Given the description of an element on the screen output the (x, y) to click on. 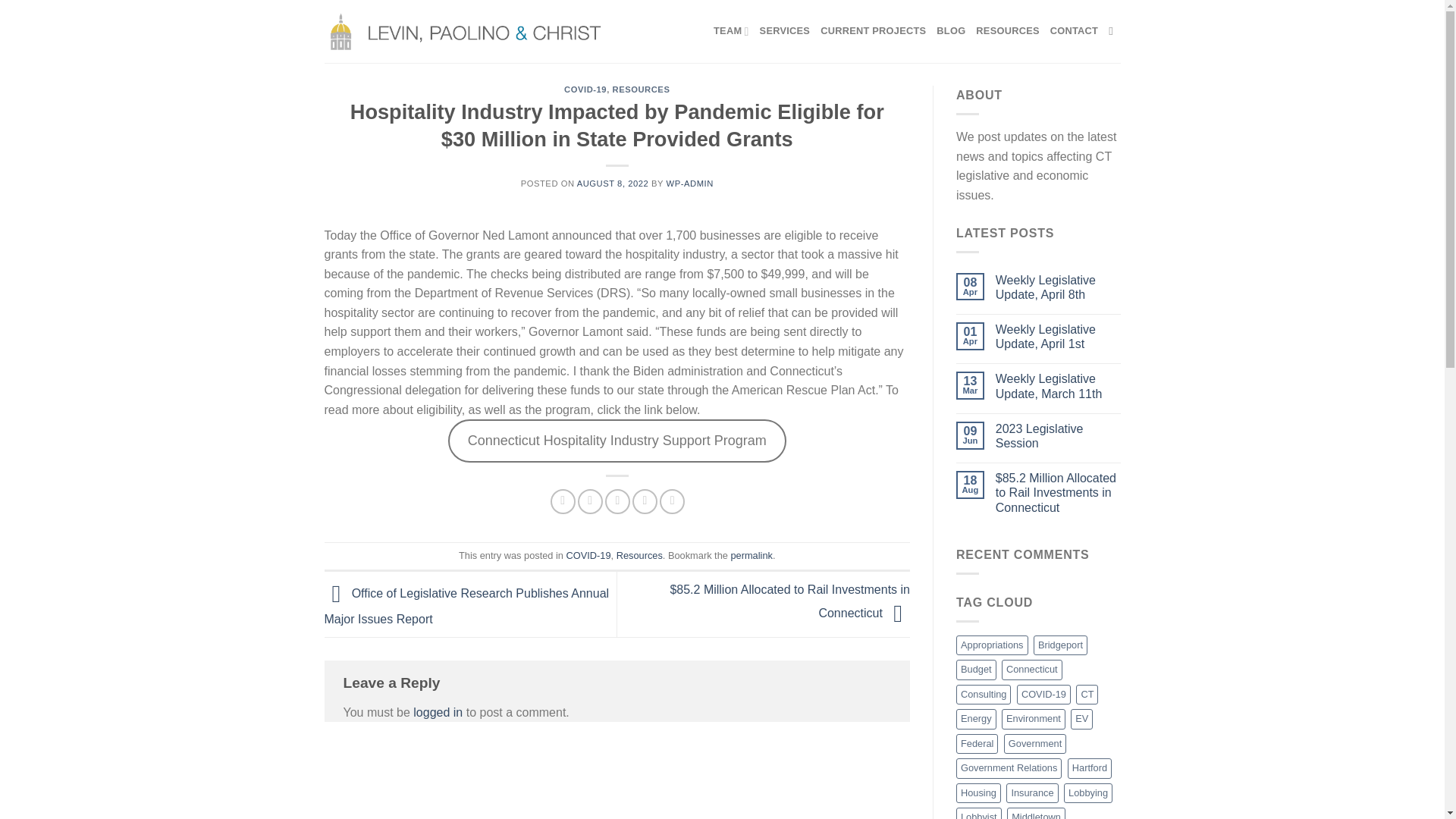
CONTACT (1073, 30)
COVID-19 (588, 555)
Share on LinkedIn (671, 501)
AUGUST 8, 2022 (612, 183)
Share on Facebook (562, 501)
2023 Legislative Session (1058, 435)
COVID-19 (585, 89)
Weekly Legislative Update, March 11th (1058, 385)
BLOG (950, 30)
WP-ADMIN (689, 183)
TEAM (731, 30)
permalink (750, 555)
Weekly Legislative Update, April 1st (1058, 336)
CURRENT PROJECTS (873, 30)
